Given the description of an element on the screen output the (x, y) to click on. 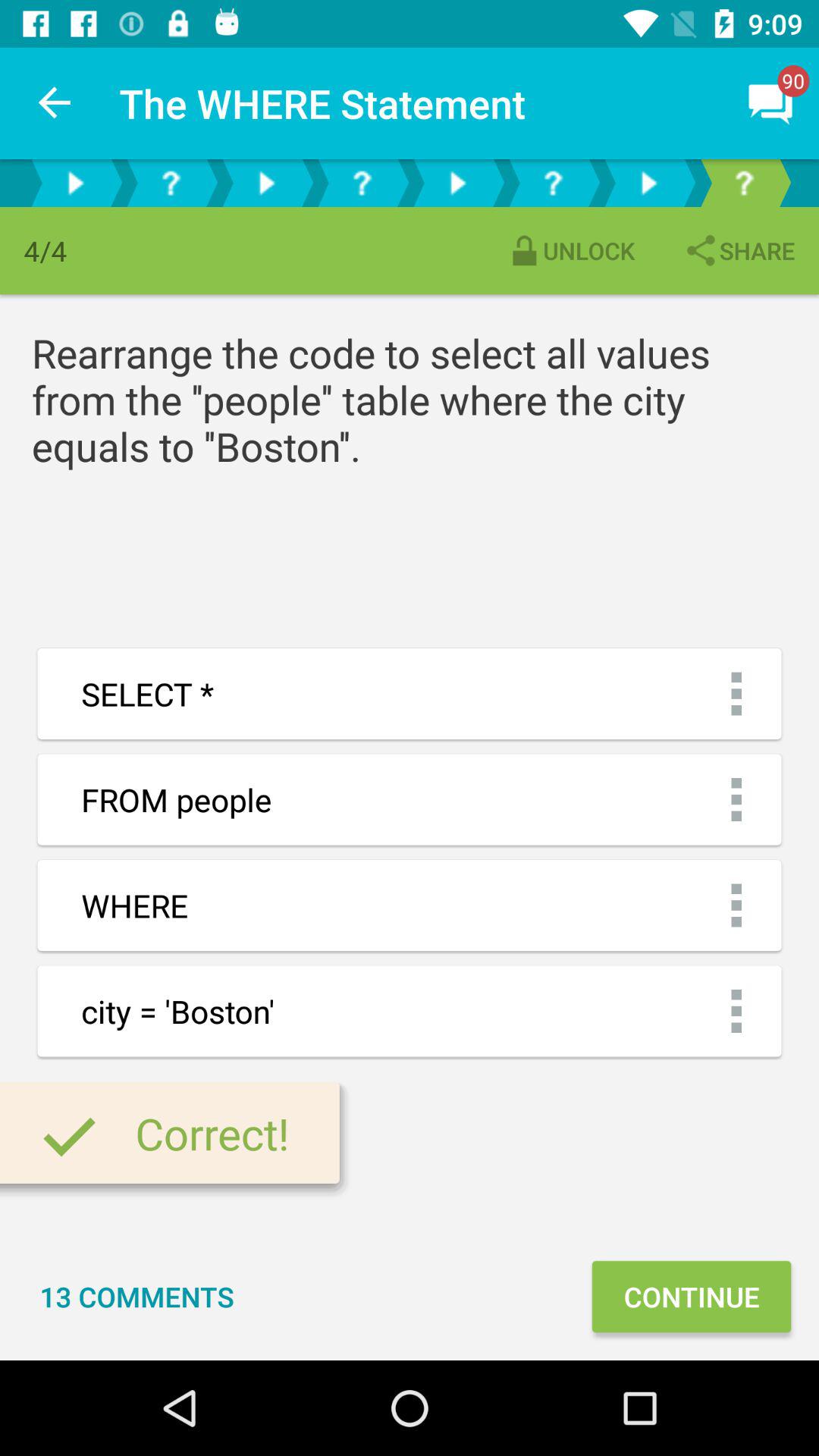
launch the icon to the right of the unlock icon (738, 250)
